Given the description of an element on the screen output the (x, y) to click on. 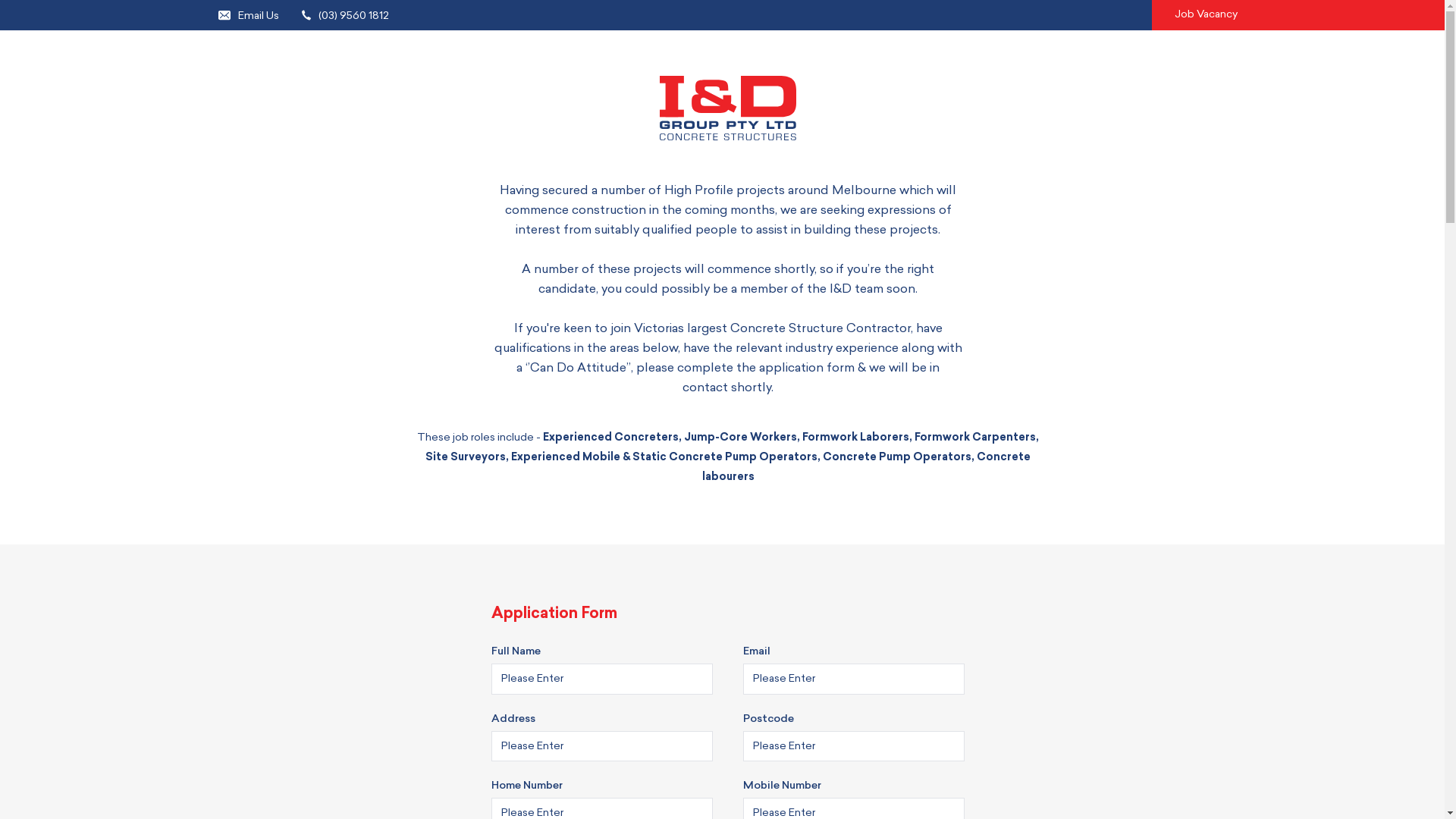
Email Us Element type: text (248, 14)
Job Vacancy Element type: text (1194, 15)
(03) 9560 1812 Element type: text (345, 14)
